Given the description of an element on the screen output the (x, y) to click on. 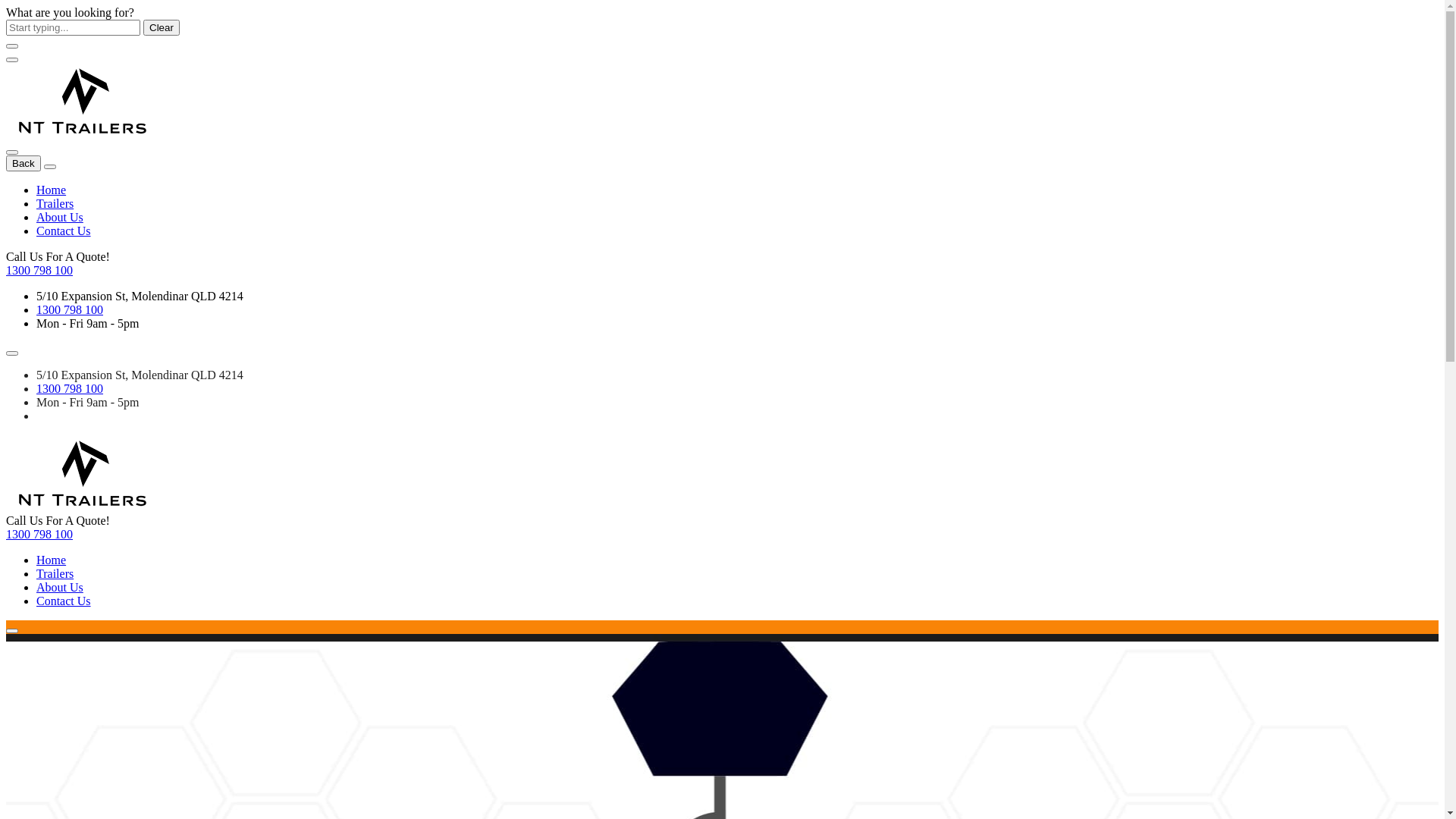
Home Element type: text (50, 189)
1300 798 100 Element type: text (39, 533)
Clear Element type: text (161, 27)
1300 798 100 Element type: text (39, 269)
About Us Element type: text (59, 216)
Back Element type: text (23, 163)
Trailers Element type: text (54, 573)
Contact Us Element type: text (63, 230)
1300 798 100 Element type: text (69, 388)
Trailers Element type: text (54, 203)
1300 798 100 Element type: text (69, 309)
Home Element type: text (50, 559)
Contact Us Element type: text (63, 600)
About Us Element type: text (59, 586)
